Given the description of an element on the screen output the (x, y) to click on. 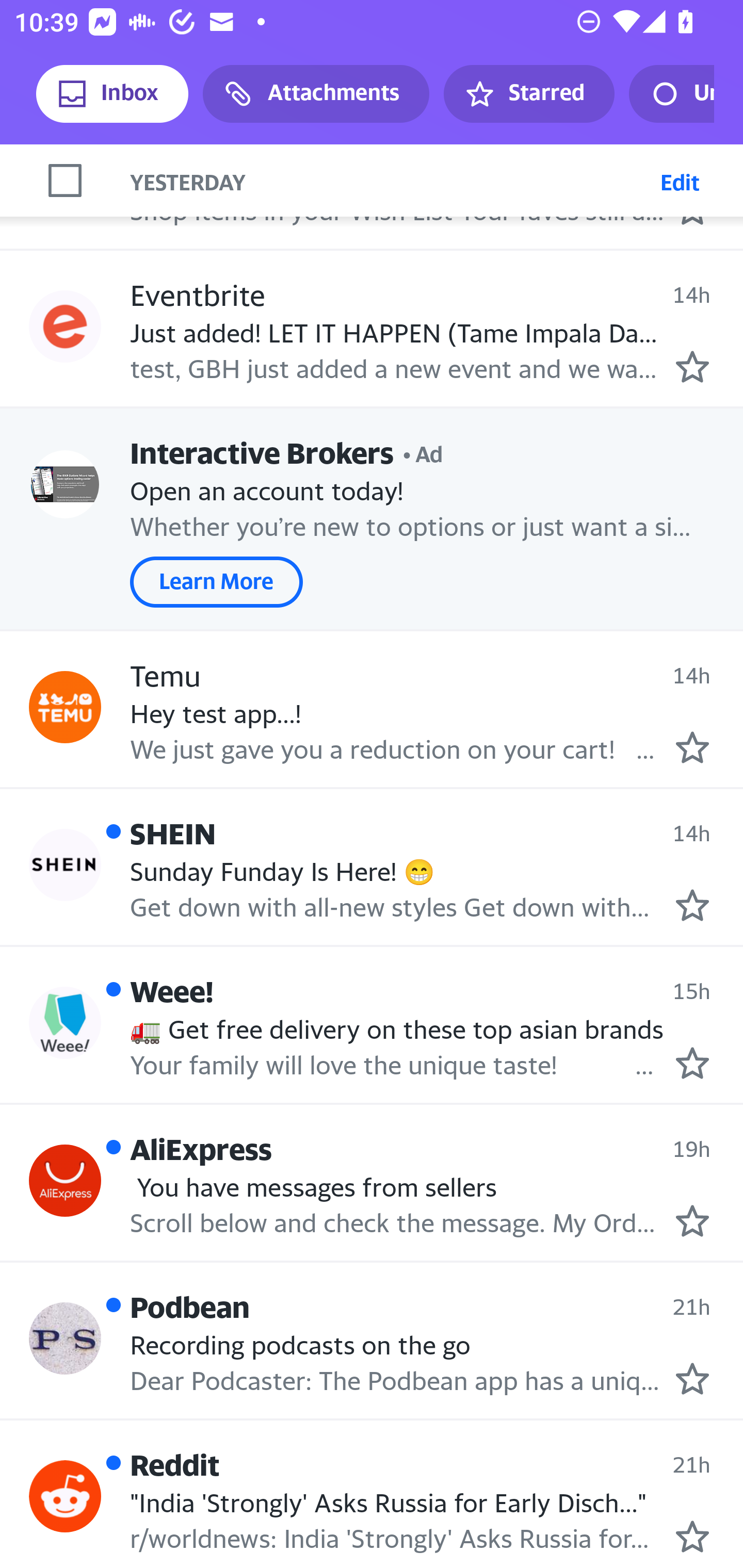
Attachments (315, 93)
Starred (528, 93)
Profile
AliExpress (64, 174)
Profile
Eventbrite (64, 326)
Mark as starred. (692, 366)
Profile
Temu (64, 707)
Mark as starred. (692, 747)
Profile
SHEIN (64, 865)
Mark as starred. (692, 905)
Profile
Weee! (64, 1022)
Mark as starred. (692, 1062)
Profile
AliExpress (64, 1180)
Mark as starred. (692, 1220)
Profile
Podbean (64, 1339)
Mark as starred. (692, 1379)
Profile
Reddit (64, 1495)
Mark as starred. (692, 1535)
